Given the description of an element on the screen output the (x, y) to click on. 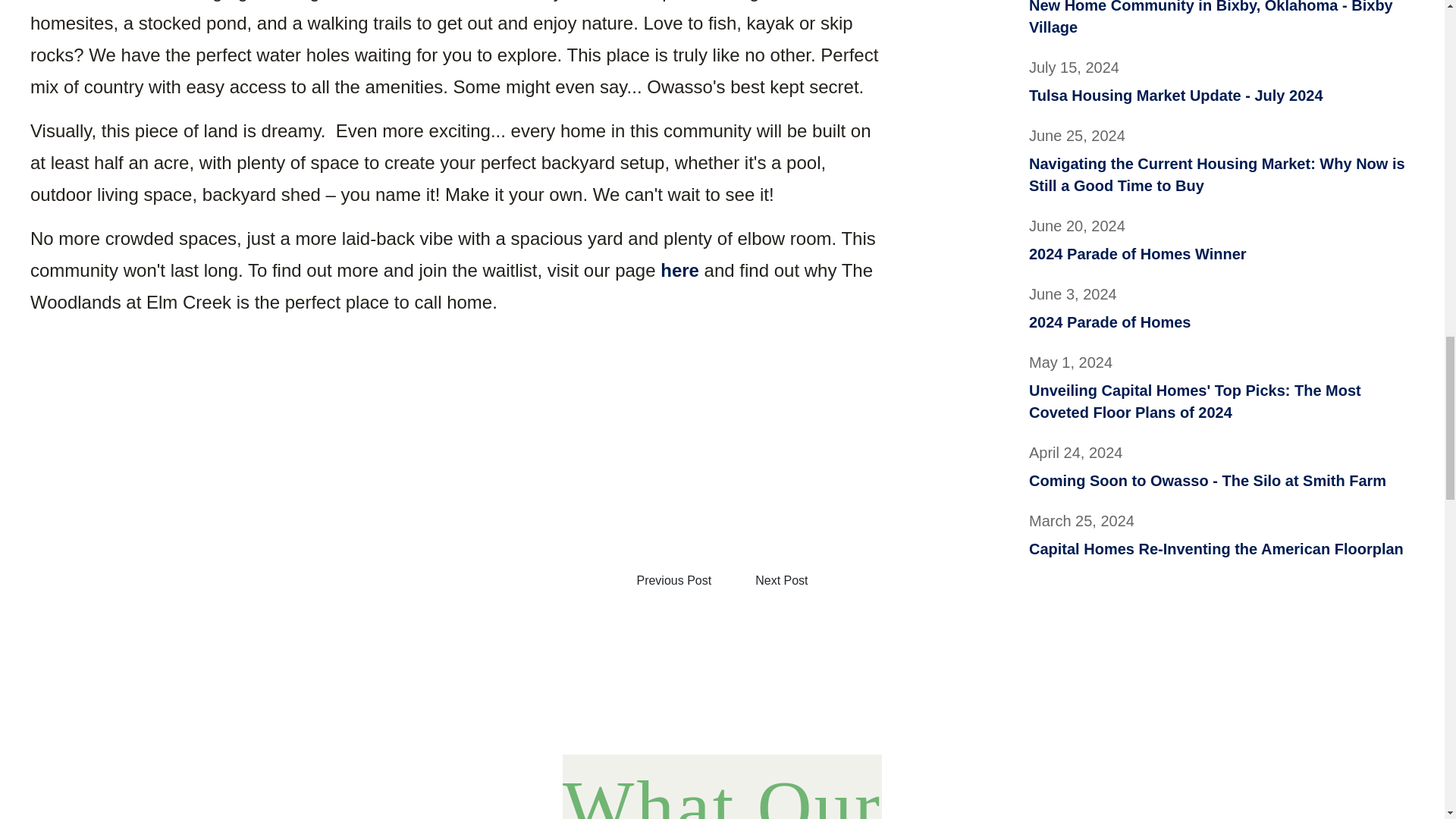
here (1221, 311)
Previous Post (1221, 84)
